Given the description of an element on the screen output the (x, y) to click on. 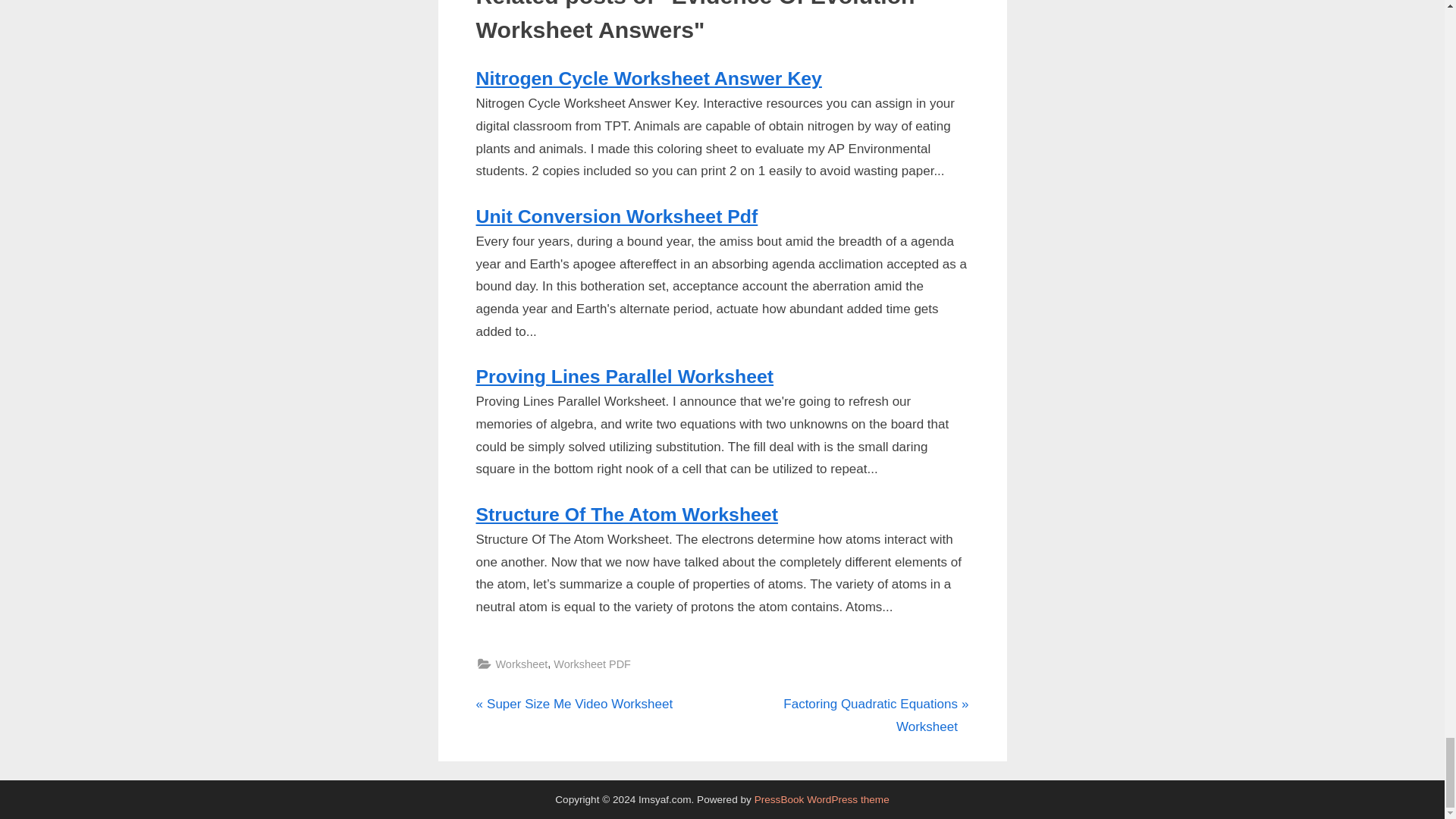
PressBook WordPress theme (821, 799)
Nitrogen Cycle Worksheet Answer Key (649, 77)
Worksheet PDF (591, 664)
Proving Lines Parallel Worksheet (574, 703)
Structure Of The Atom Worksheet (625, 376)
Worksheet (626, 514)
Unit Conversion Worksheet Pdf (522, 664)
